Given the description of an element on the screen output the (x, y) to click on. 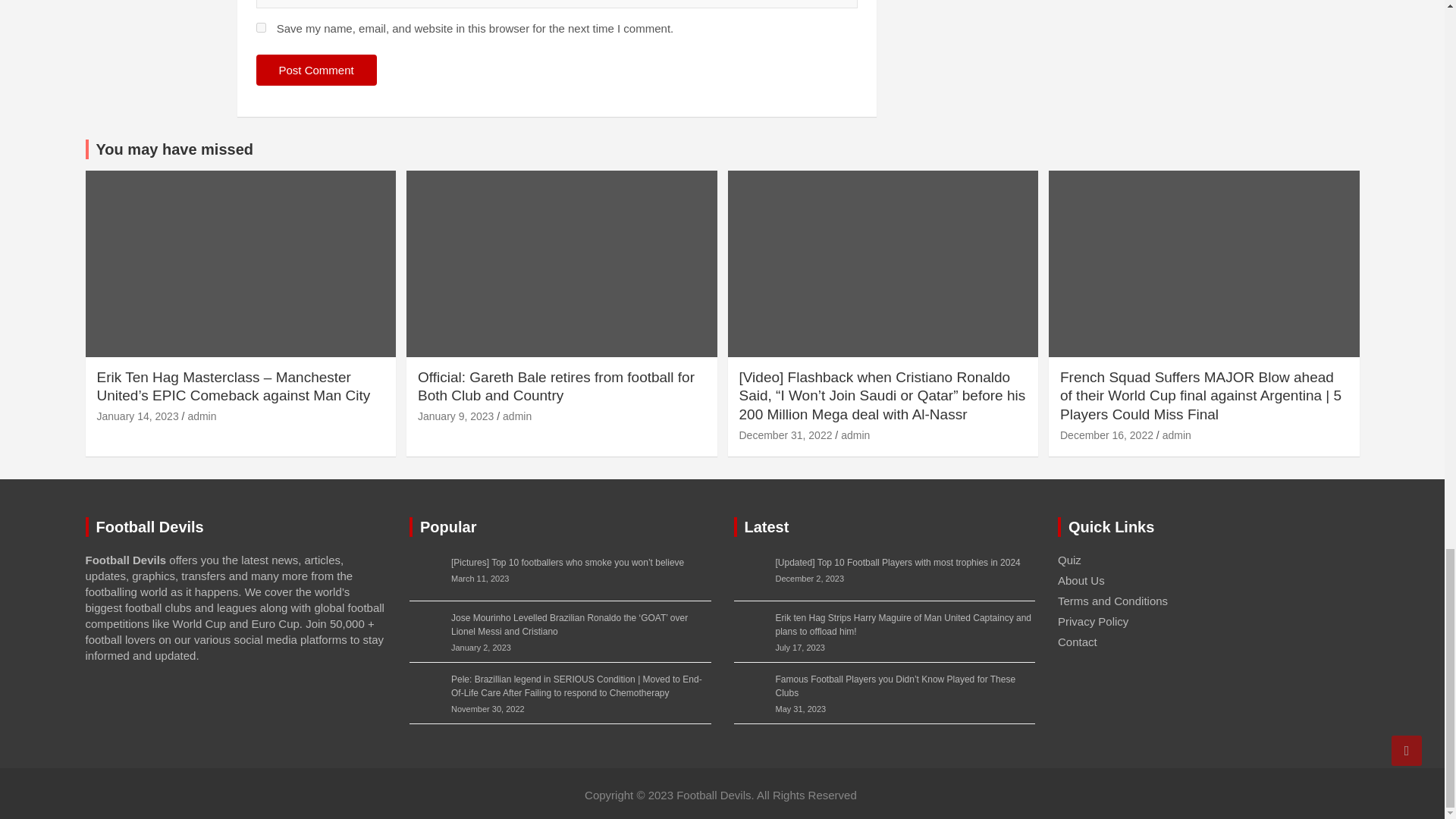
yes (261, 27)
Post Comment (316, 69)
Post Comment (316, 69)
